Given the description of an element on the screen output the (x, y) to click on. 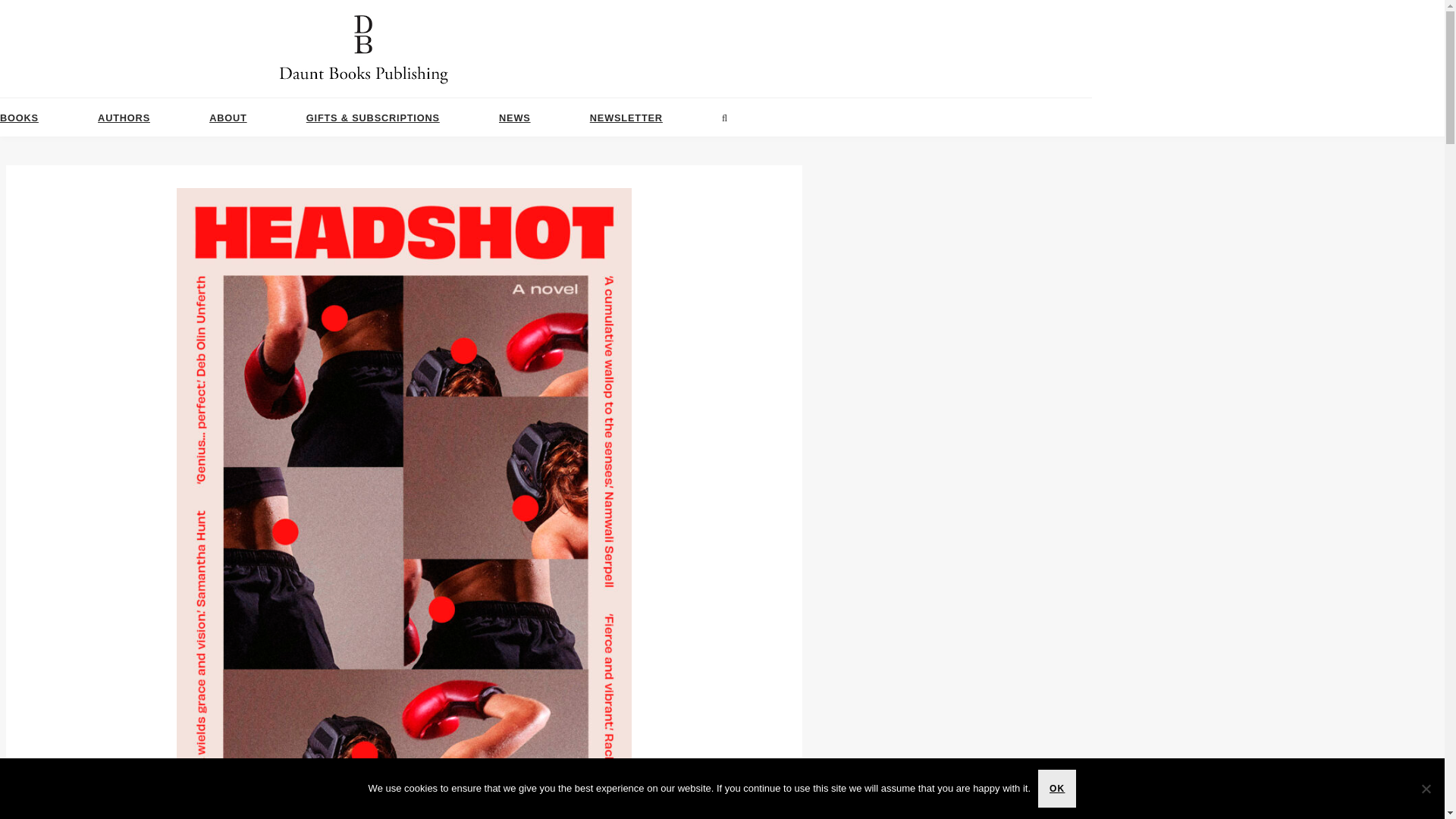
OK (1056, 788)
NEWSLETTER (625, 117)
NEWS (515, 117)
ABOUT (228, 117)
BOOKS (19, 117)
AUTHORS (123, 117)
